Given the description of an element on the screen output the (x, y) to click on. 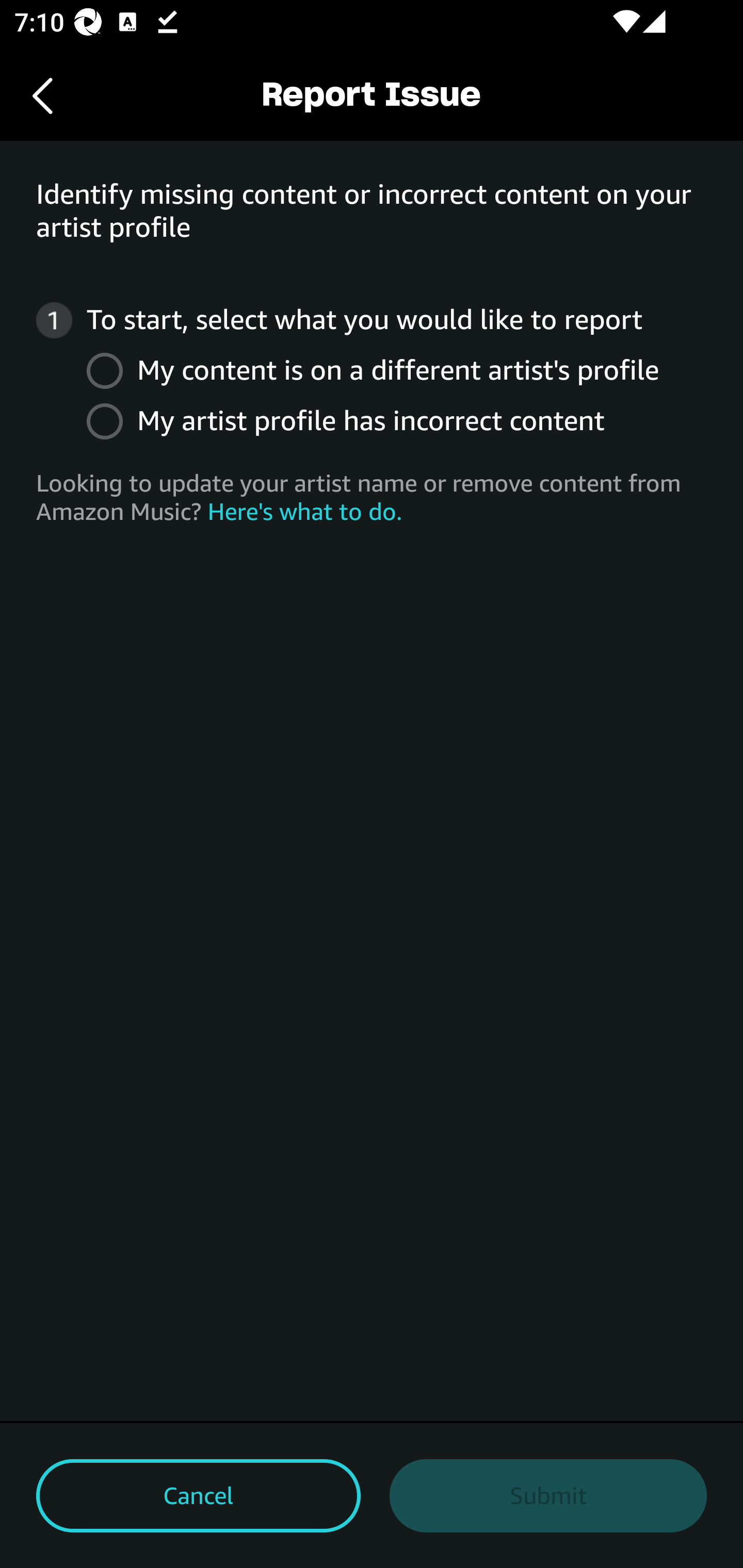
Cancel button Cancel (198, 1495)
Submit button Submit (547, 1495)
